Given the description of an element on the screen output the (x, y) to click on. 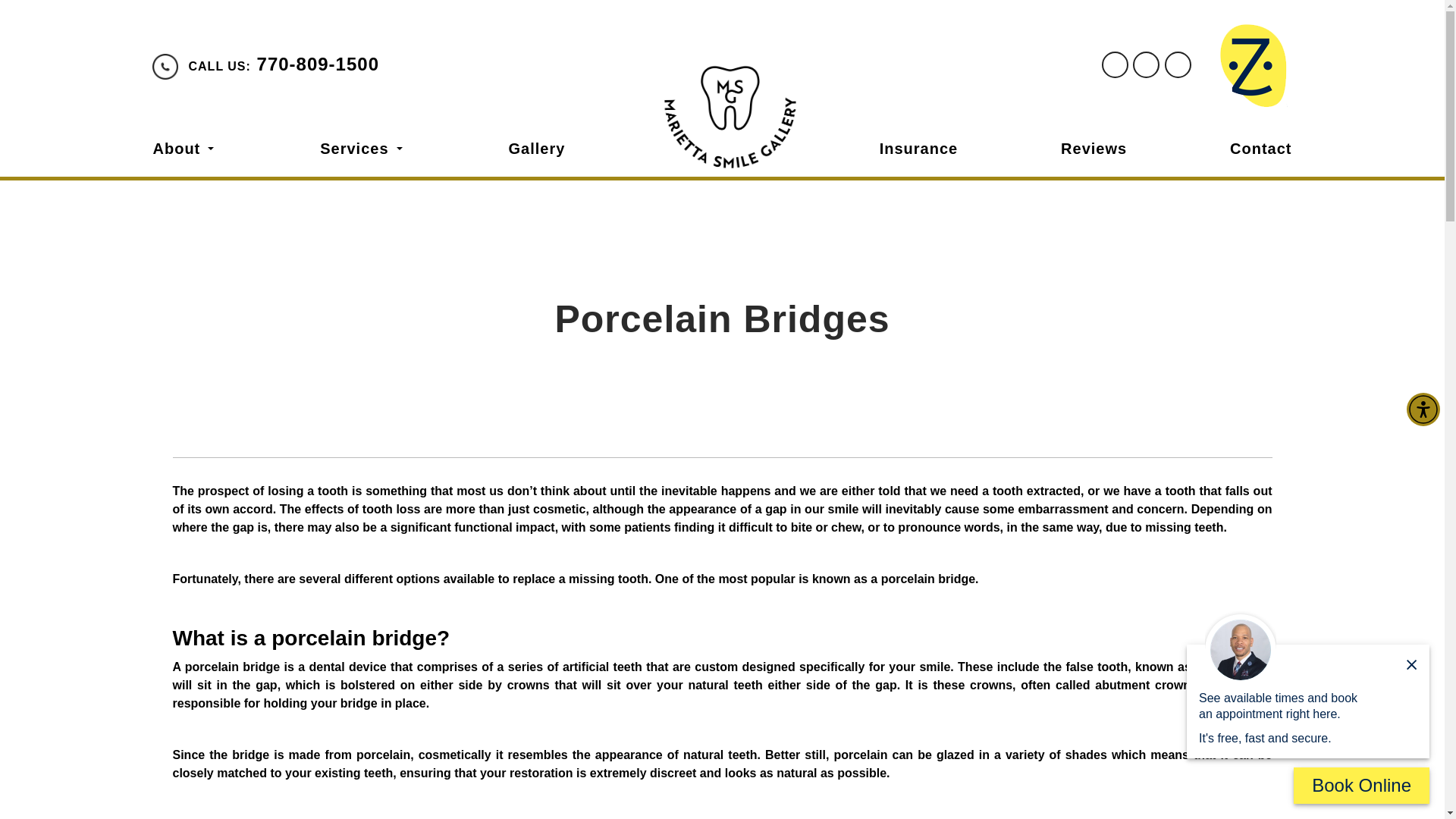
Contact (1260, 148)
Gallery (536, 148)
CALL US: 770-809-1500 (282, 64)
Insurance (918, 148)
Call: 770-809-1500 (282, 64)
Services (360, 148)
About (183, 148)
Accessibility Menu (1422, 409)
Reviews (1093, 148)
